Given the description of an element on the screen output the (x, y) to click on. 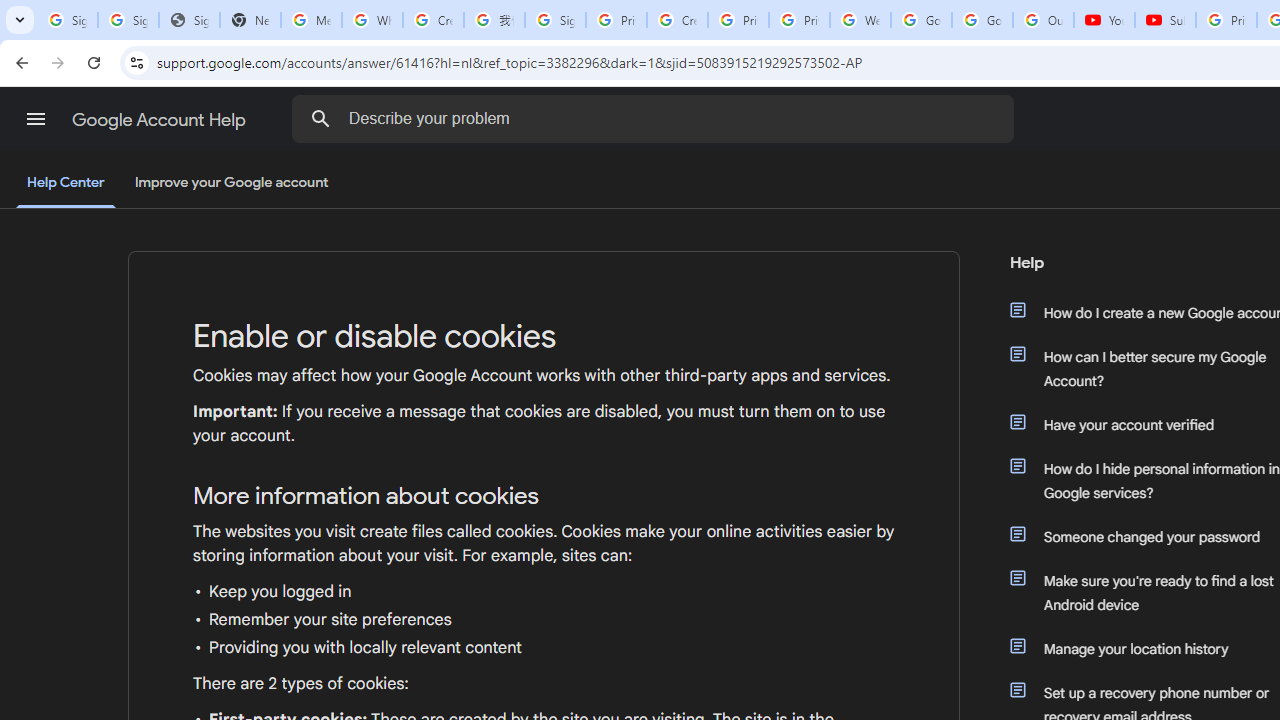
Sign in - Google Accounts (555, 20)
Create your Google Account (433, 20)
